Given the description of an element on the screen output the (x, y) to click on. 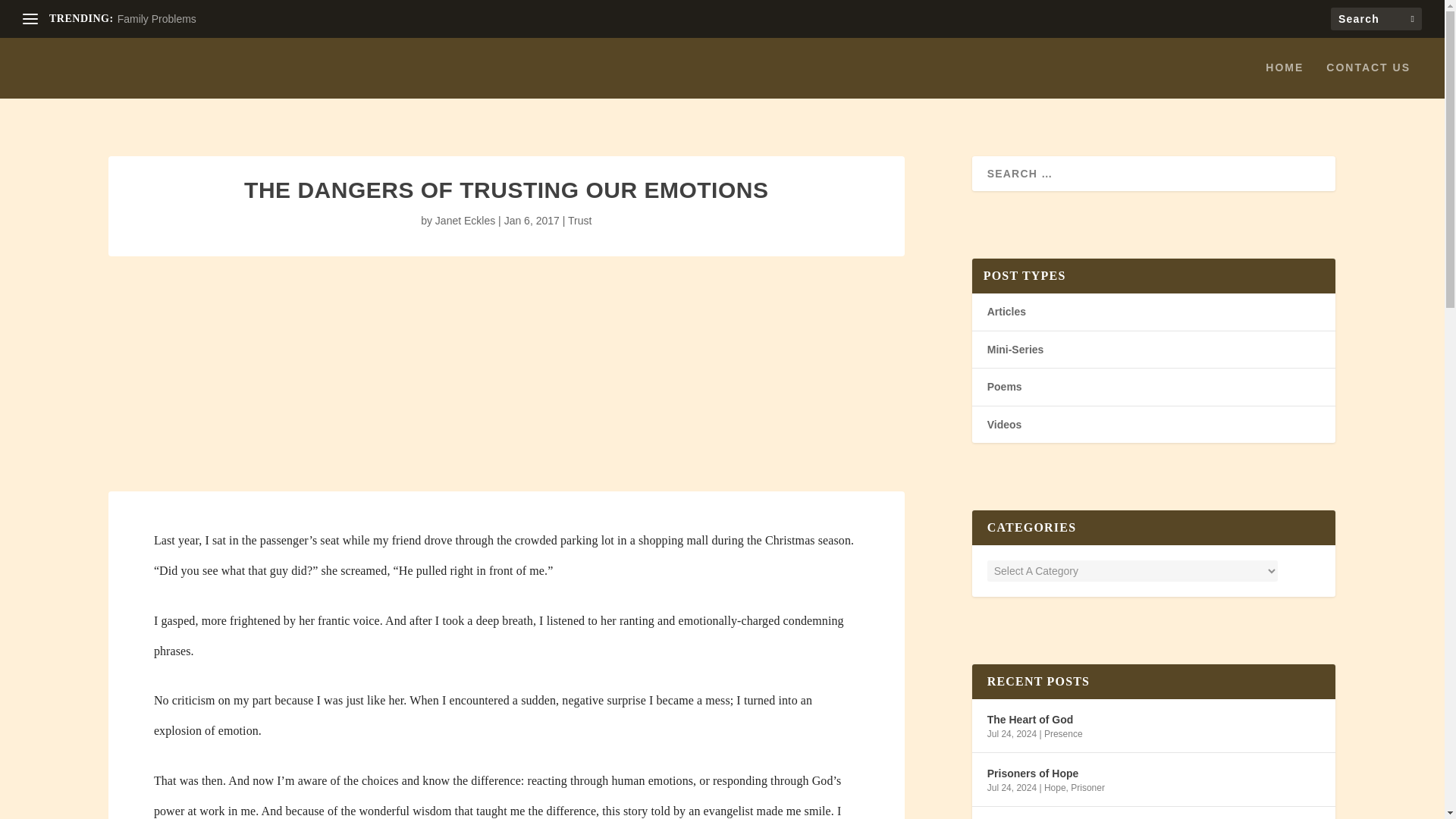
CONTACT US (1368, 79)
HOME (1284, 79)
Trust (579, 220)
Presence (1063, 733)
Search for: (1376, 18)
Prisoner (1087, 787)
Videos (1004, 424)
ovidiu-gruescu-oqMtyjbaJqE-unsplash (506, 339)
Search (31, 13)
The Heart of God (1030, 719)
Family Problems (156, 19)
Articles (1006, 311)
Poems (1004, 386)
Posts by Janet Eckles (465, 220)
Prisoners of Hope (1032, 773)
